Given the description of an element on the screen output the (x, y) to click on. 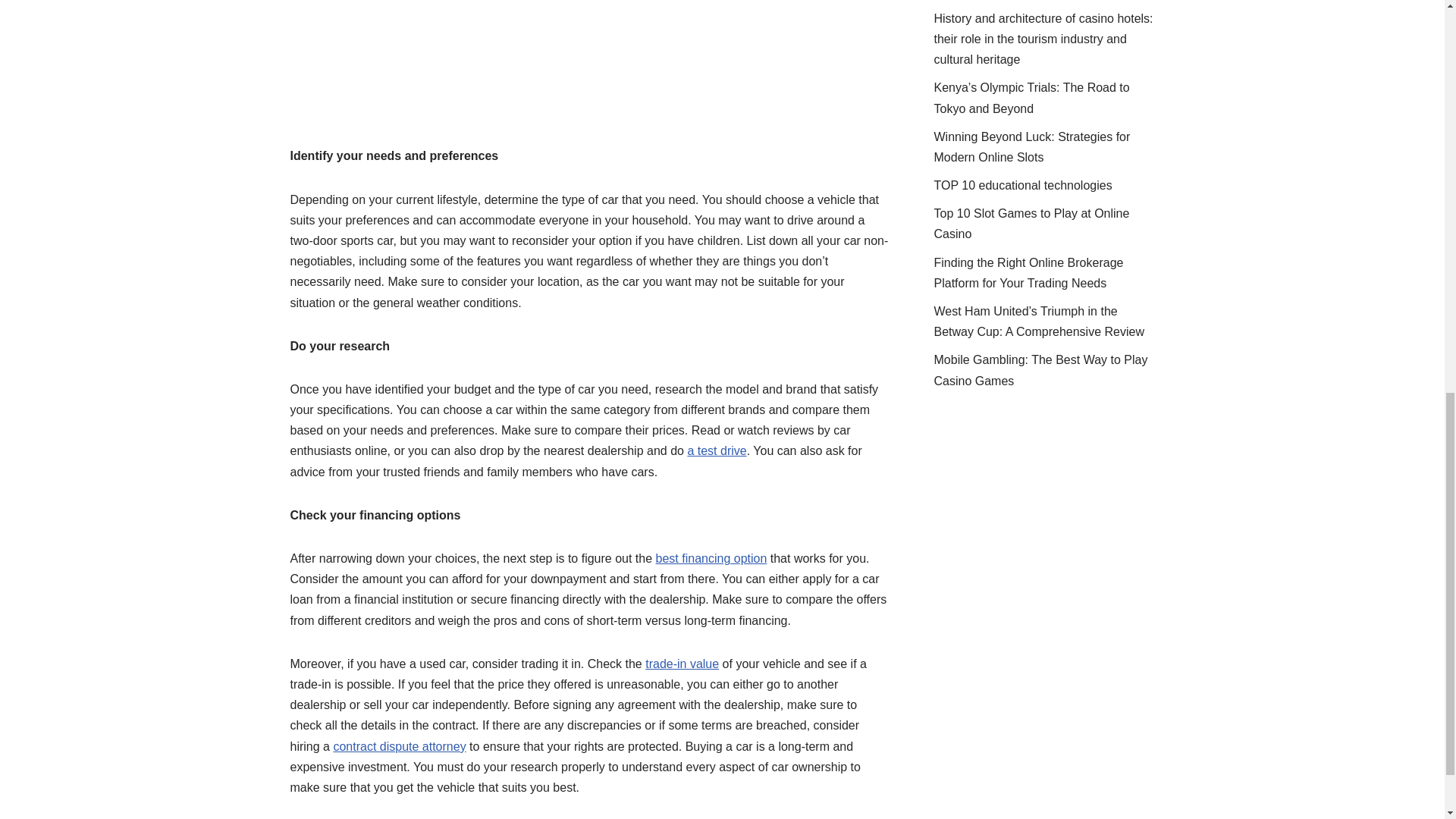
best financing option (711, 558)
a test drive (716, 450)
contract dispute attorney (399, 746)
TOP 10 educational technologies (1023, 185)
Winning Beyond Luck: Strategies for Modern Online Slots (1032, 146)
Mobile Gambling: The Best Way to Play Casino Games (1041, 369)
trade-in value (682, 663)
Top 10 Slot Games to Play at Online Casino (1031, 223)
